Given the description of an element on the screen output the (x, y) to click on. 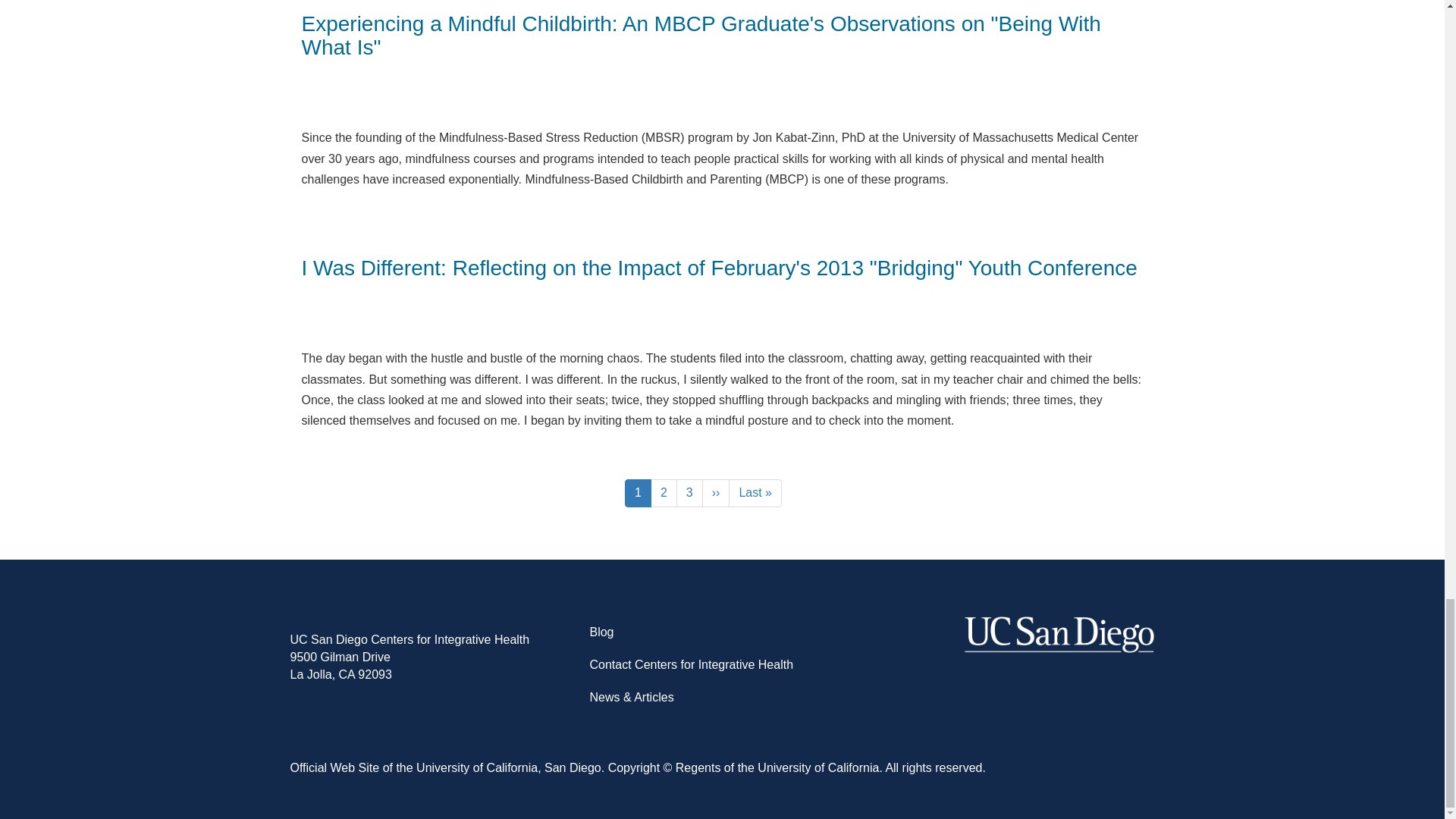
Go to page 2 (637, 492)
Go to page 3 (663, 492)
Current page (690, 492)
Go to last page (637, 492)
Contact Centers for Integrative Health (663, 492)
Blog (755, 492)
Go to next page (690, 492)
